Given the description of an element on the screen output the (x, y) to click on. 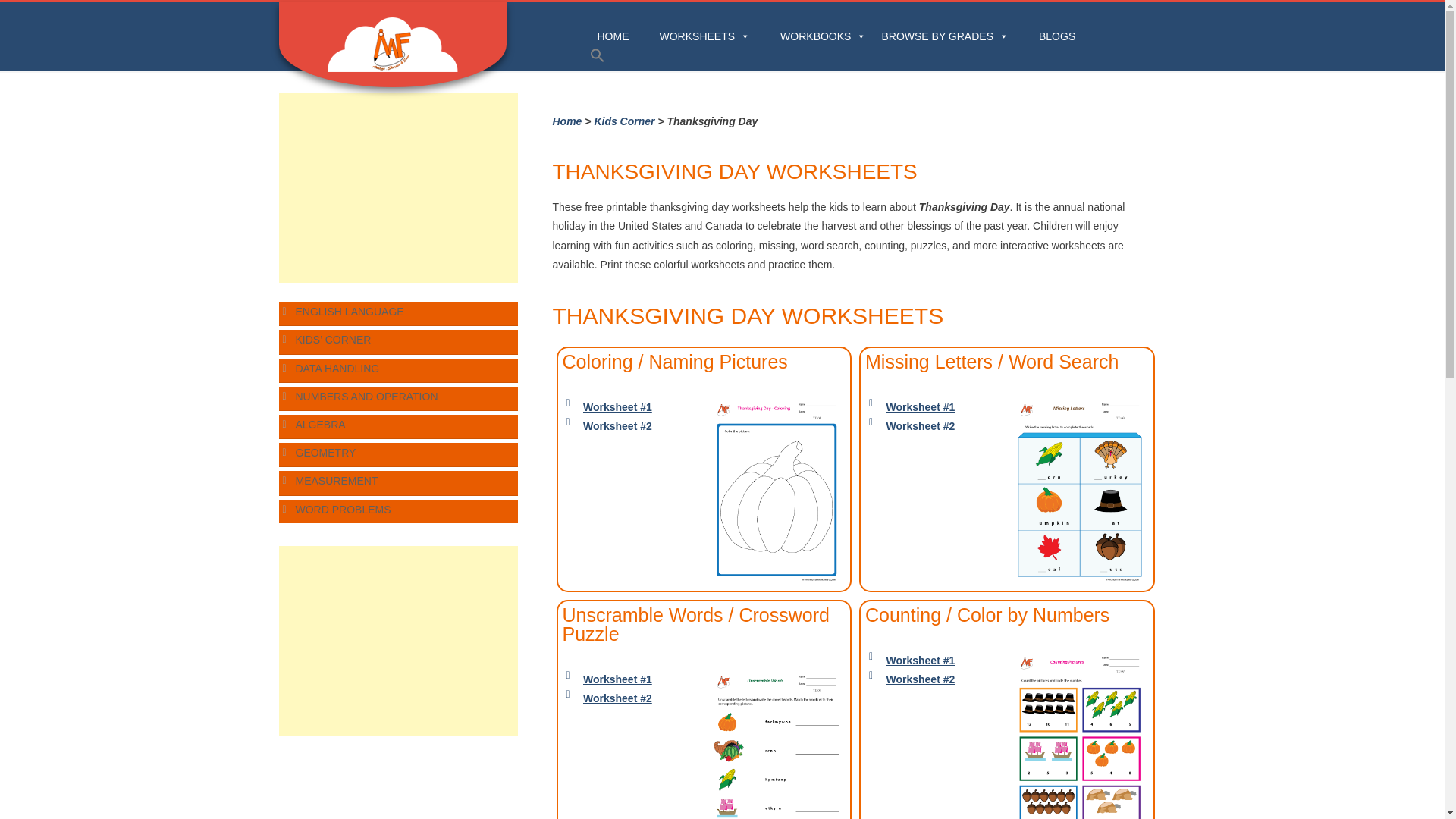
Download Thanksgiving Day Worksheets (933, 407)
Download Thanksgiving Day Worksheets (1079, 490)
Download Thanksgiving Day Worksheets (630, 698)
HOME (613, 28)
Download Thanksgiving Day Worksheets (776, 490)
Download Thanksgiving Day Worksheets (630, 407)
Download Thanksgiving Day Worksheets (933, 425)
Download Thanksgiving Day Worksheets (630, 679)
Download Thanksgiving Day Worksheets (933, 660)
Download Thanksgiving Day Worksheets (776, 744)
WORKSHEETS (705, 28)
Download Thanksgiving Day Worksheets (1079, 735)
Download Thanksgiving Day Worksheets (630, 425)
Download Thanksgiving Day Worksheets (933, 679)
